Given the description of an element on the screen output the (x, y) to click on. 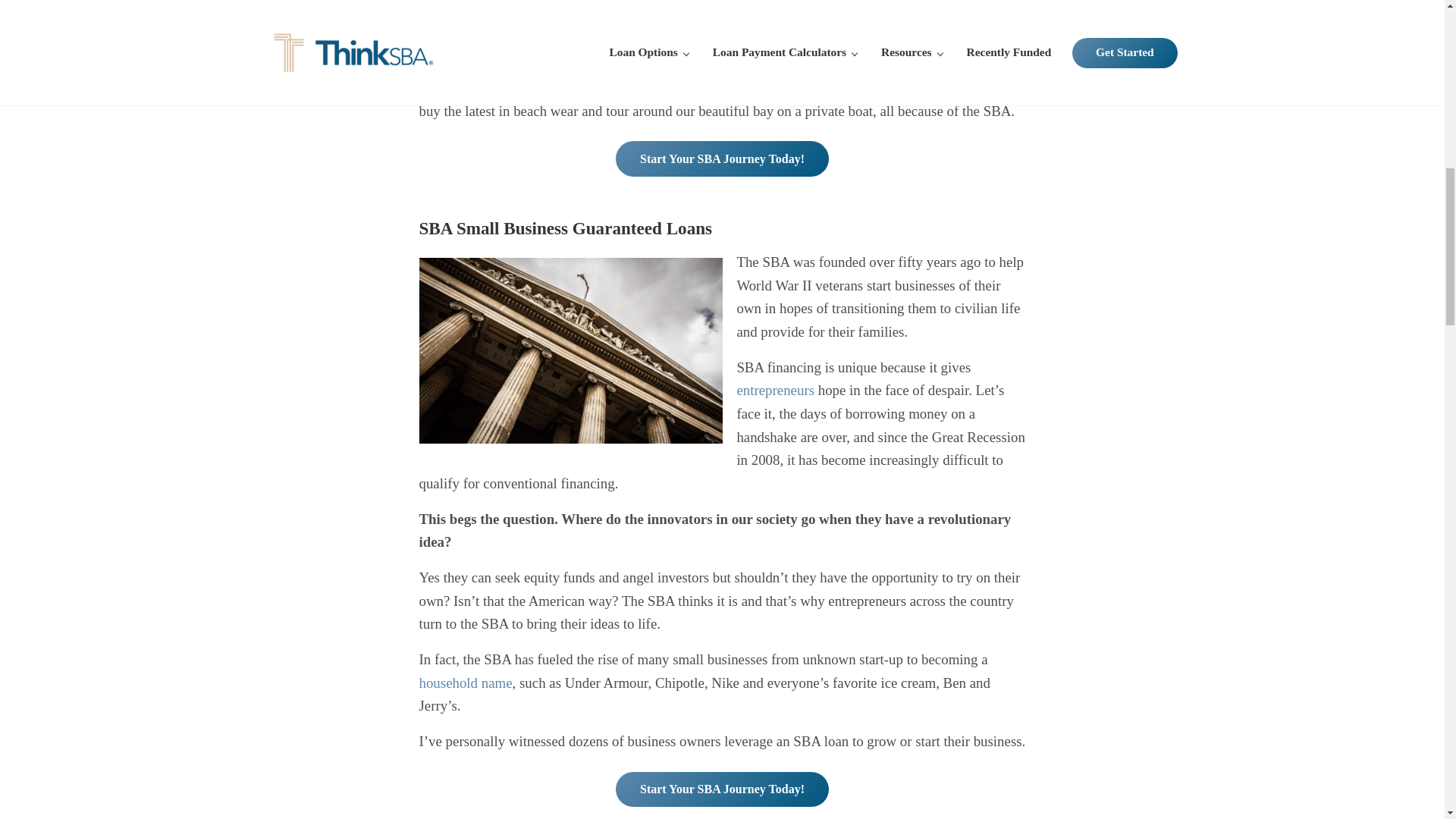
household name (465, 682)
Start Your SBA Journey Today! (721, 158)
small businesses (504, 6)
Small Business Administration (713, 40)
entrepreneurs (774, 390)
Start Your SBA Journey Today! (721, 789)
